Given the description of an element on the screen output the (x, y) to click on. 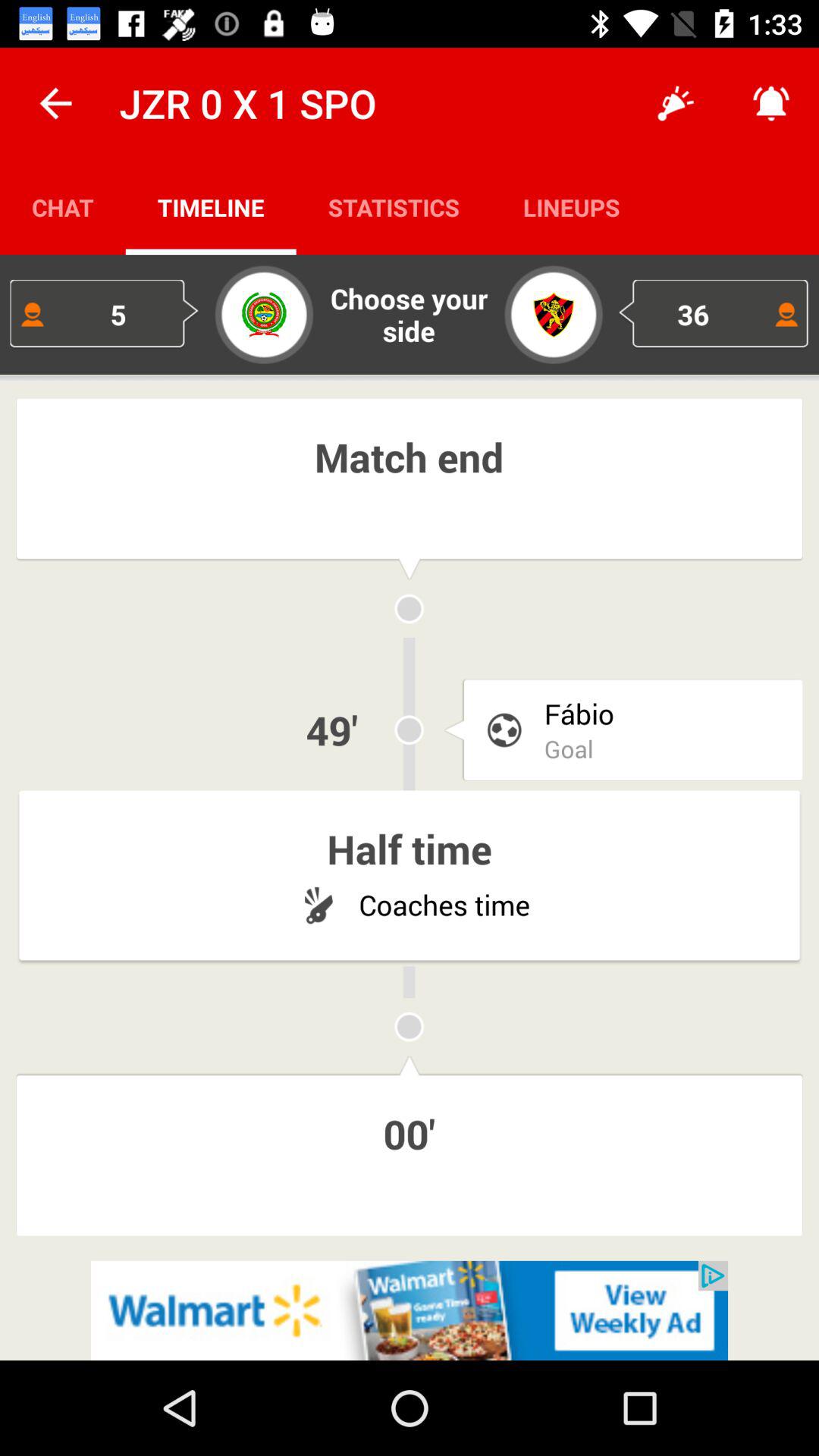
advertisement section (409, 1310)
